Given the description of an element on the screen output the (x, y) to click on. 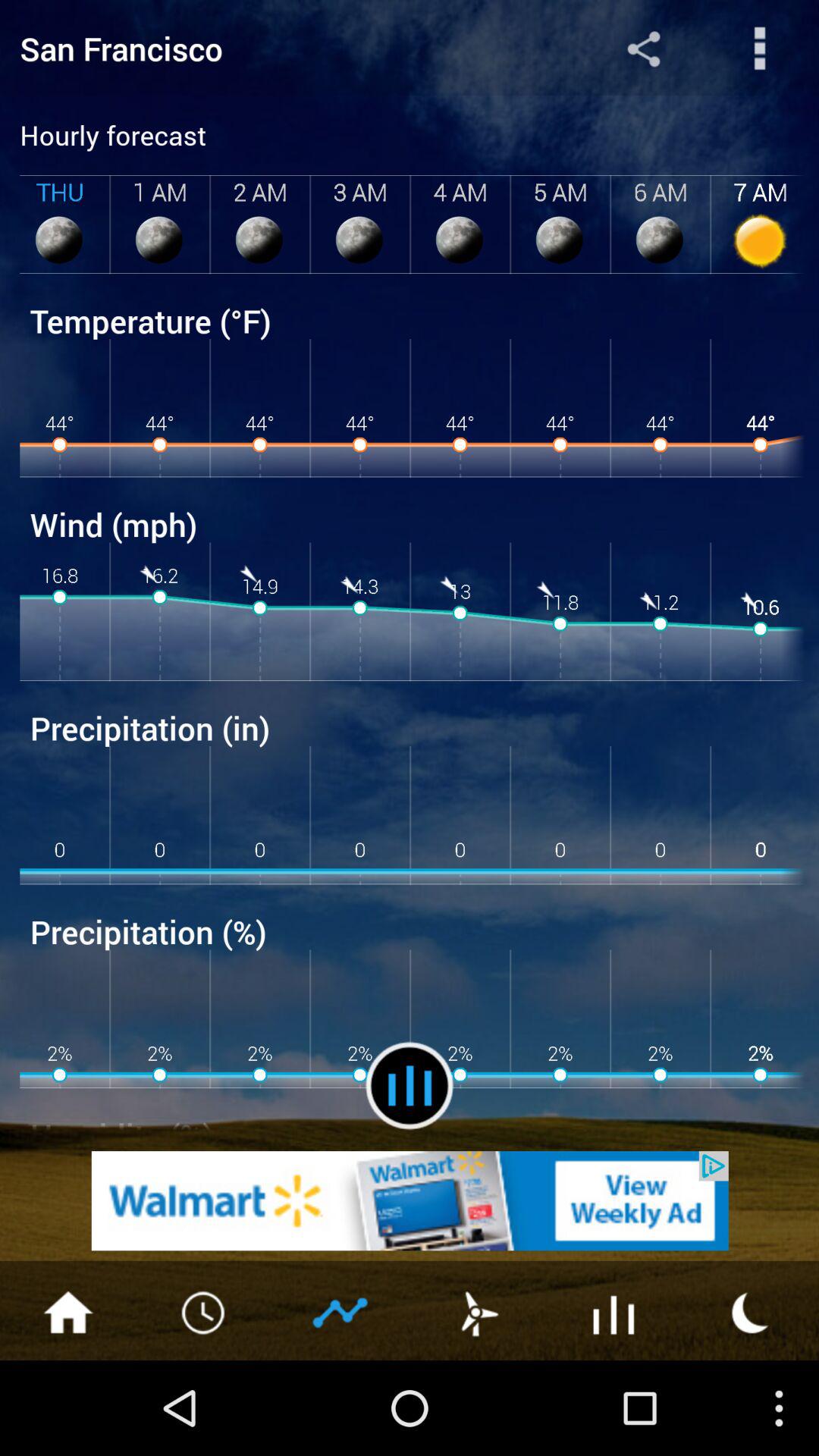
open menu (759, 48)
